Given the description of an element on the screen output the (x, y) to click on. 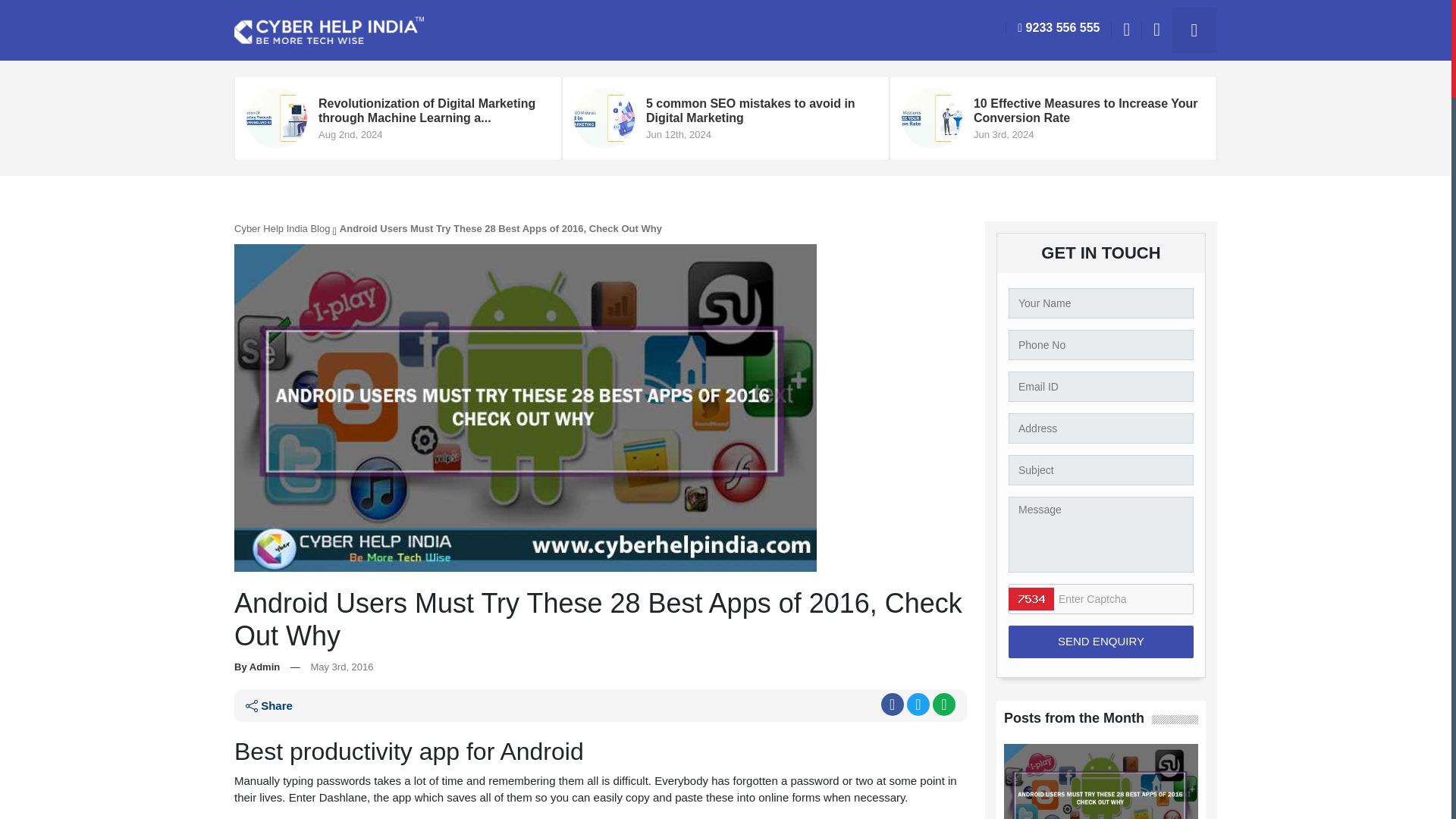
Cyber Help India Blog (282, 228)
9233 556 555 (1058, 28)
SEND ENQUIRY (1101, 641)
By Admin (256, 666)
SEND ENQUIRY (1101, 641)
